Given the description of an element on the screen output the (x, y) to click on. 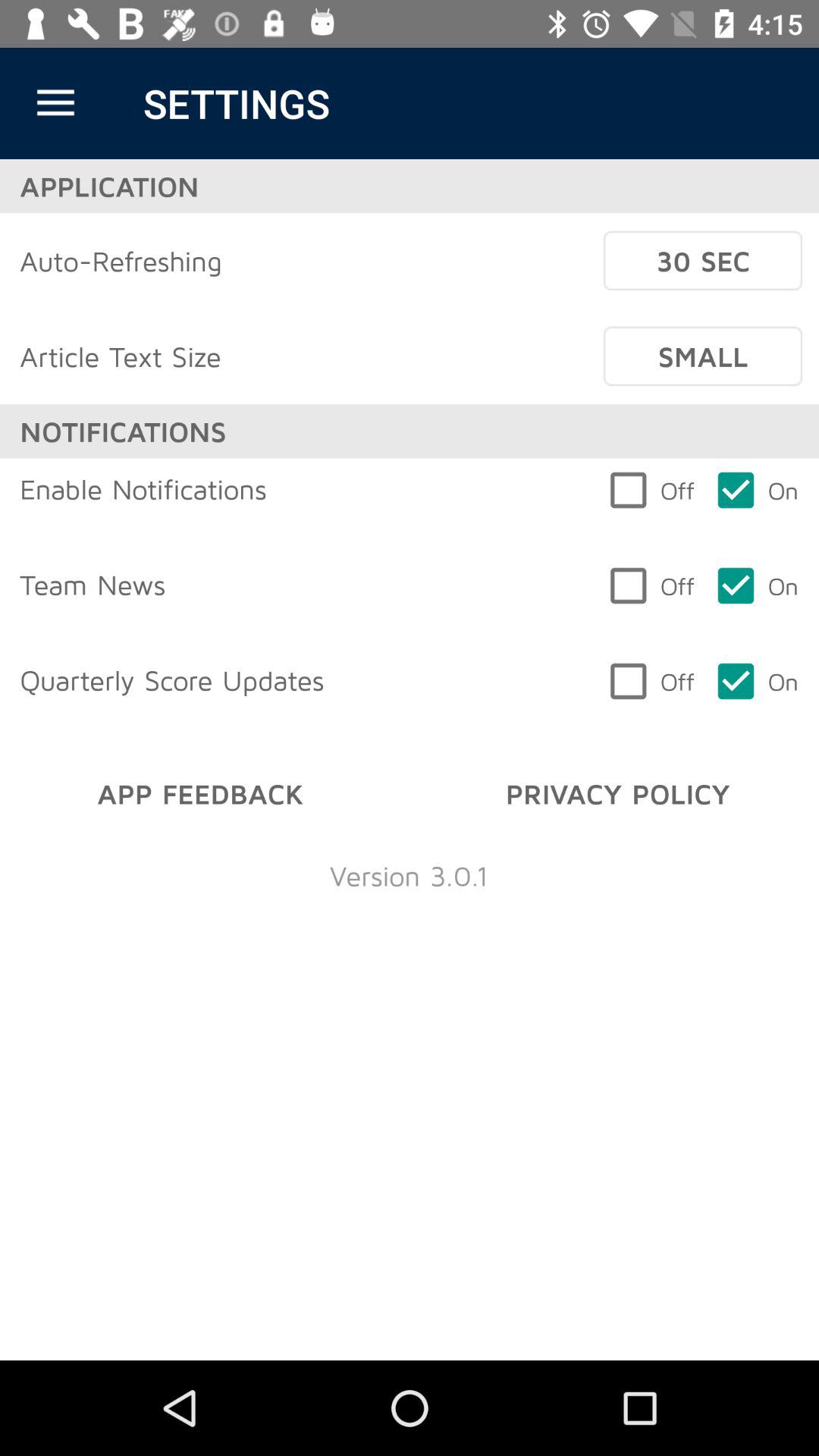
open icon below app feedback item (408, 875)
